Given the description of an element on the screen output the (x, y) to click on. 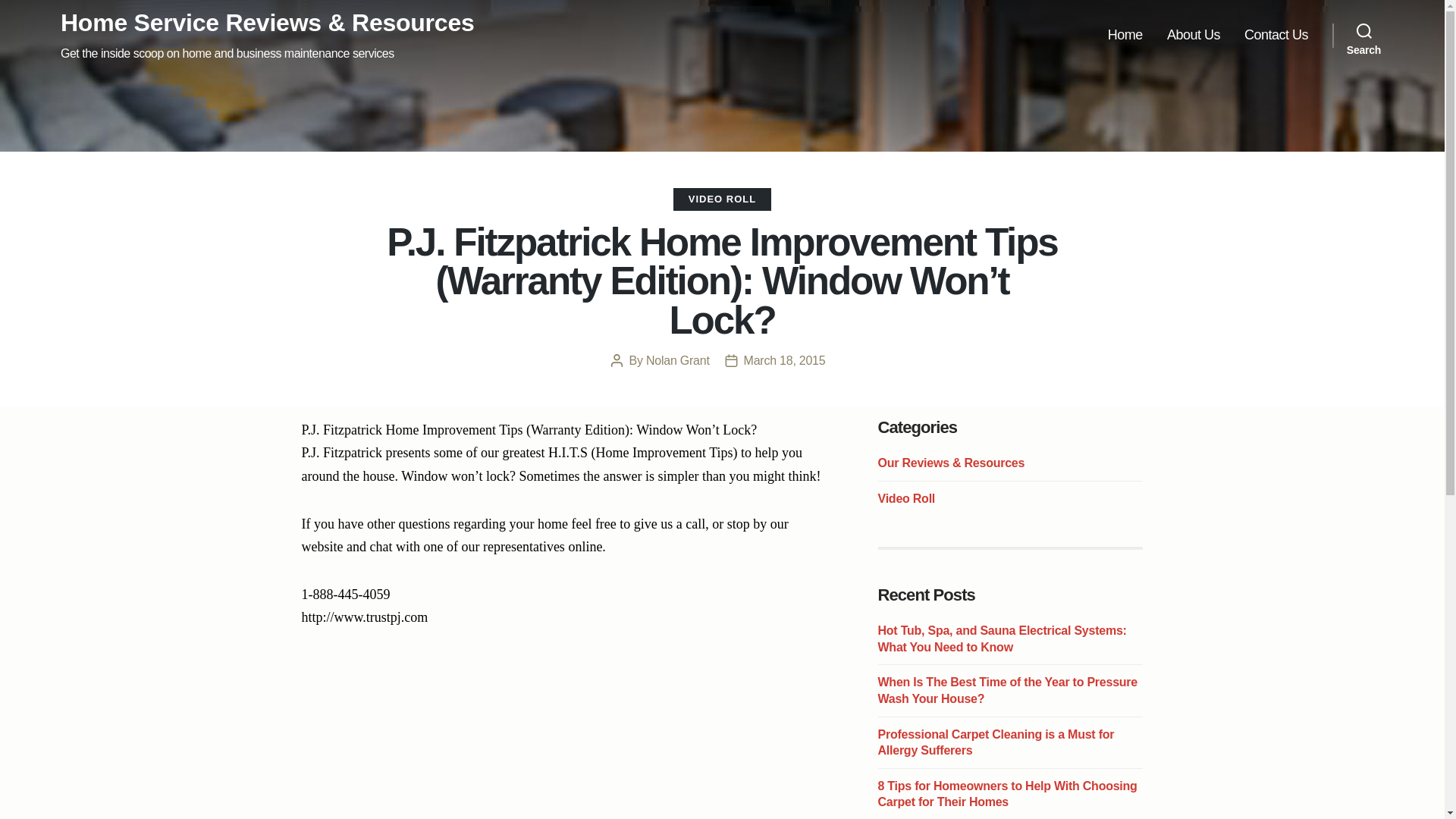
Nolan Grant (678, 359)
About Us (1193, 35)
VIDEO ROLL (721, 199)
Search (1364, 35)
Video Roll (906, 498)
Home (1125, 35)
Professional Carpet Cleaning is a Must for Allergy Sufferers (996, 742)
